Given the description of an element on the screen output the (x, y) to click on. 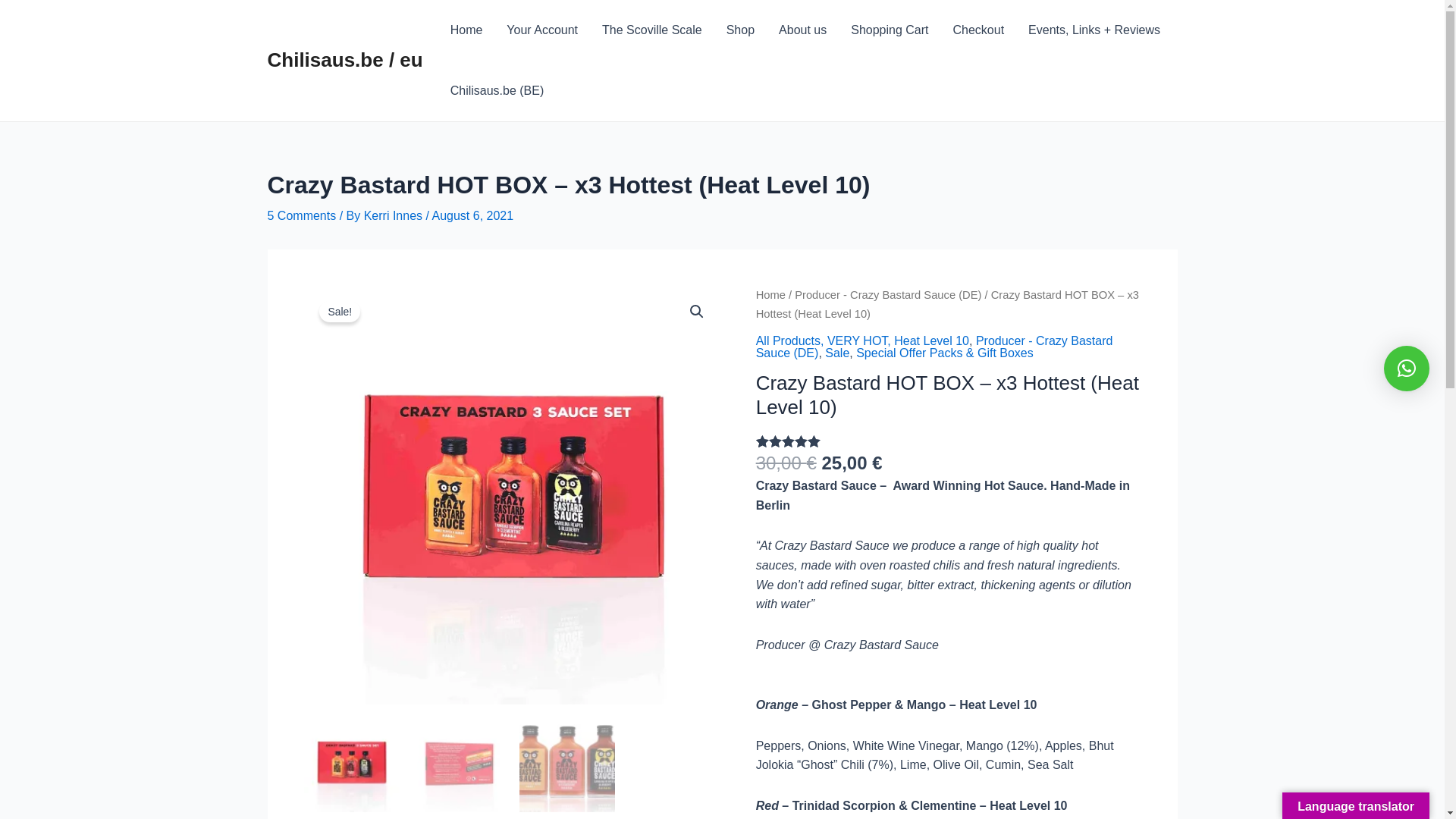
Chilisaus.be (BE) Element type: text (497, 90)
The Scoville Scale Element type: text (651, 30)
cbs hot box Element type: hover (512, 494)
5 Comments Element type: text (300, 215)
Special Offer Packs & Gift Boxes Element type: text (944, 352)
Producer - Crazy Bastard Sauce (DE) Element type: text (934, 346)
Checkout Element type: text (978, 30)
Kerri Innes Element type: text (395, 215)
All Products, VERY HOT, Heat Level 10 Element type: text (862, 340)
Home Element type: text (466, 30)
Shopping Cart Element type: text (889, 30)
Chilisaus.be / eu Element type: text (344, 59)
Your Account Element type: text (541, 30)
Producer - Crazy Bastard Sauce (DE) Element type: text (887, 294)
Sale Element type: text (837, 352)
About us Element type: text (802, 30)
Home Element type: text (770, 294)
Shop Element type: text (740, 30)
Events, Links + Reviews Element type: text (1094, 30)
